Given the description of an element on the screen output the (x, y) to click on. 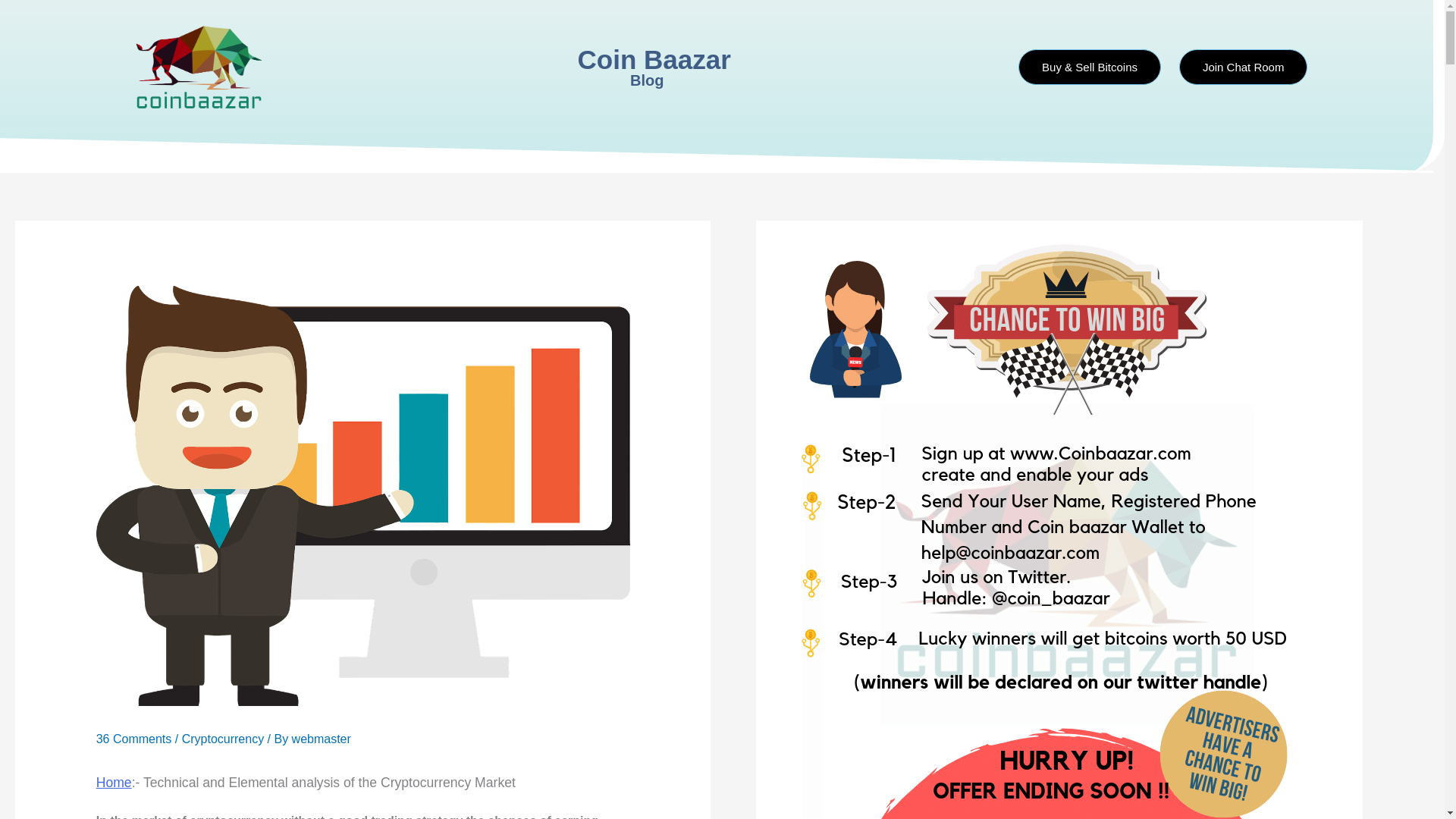
webmaster (321, 738)
Home (114, 782)
View all posts by webmaster (321, 738)
Cryptocurrency (222, 738)
Search (980, 66)
Join Chat Room (1243, 67)
36 Comments (133, 738)
